Given the description of an element on the screen output the (x, y) to click on. 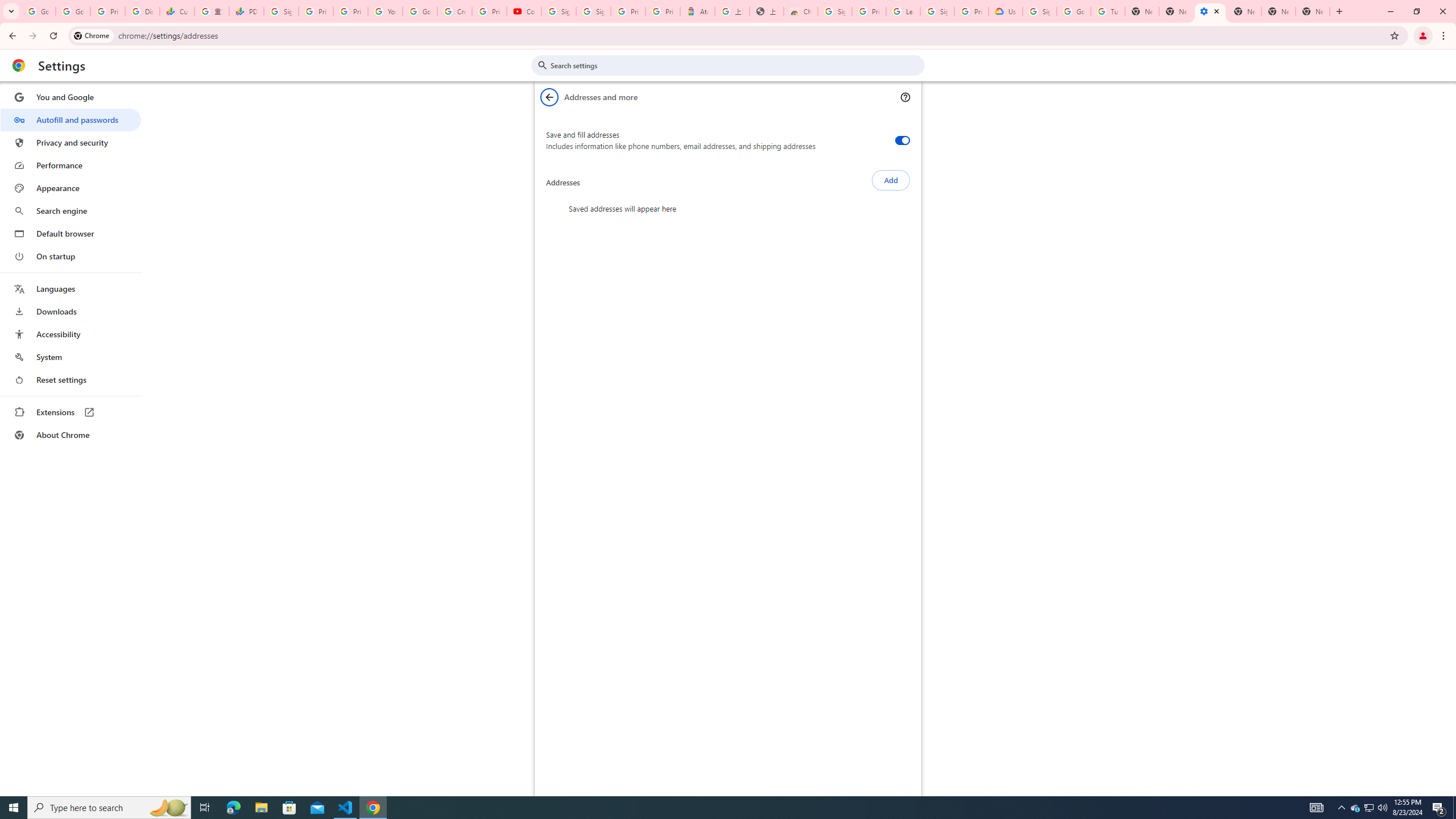
Search settings (735, 65)
Google Account Help (1073, 11)
Sign in - Google Accounts (592, 11)
Sign in - Google Accounts (557, 11)
Languages (70, 288)
Chrome Web Store - Color themes by Chrome (800, 11)
On startup (70, 255)
Search engine (70, 210)
Settings - Addresses and more (1209, 11)
